Given the description of an element on the screen output the (x, y) to click on. 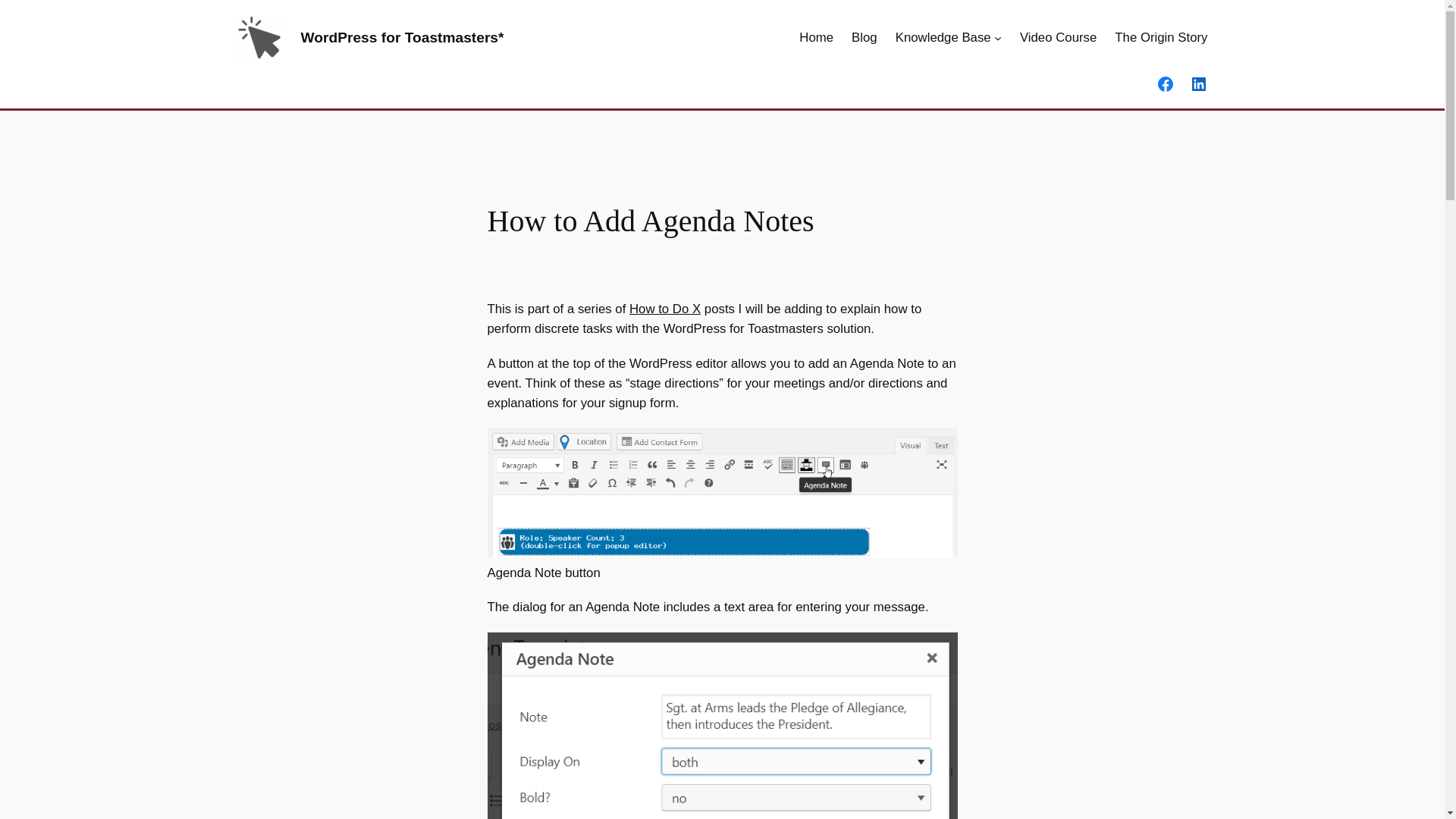
The Origin Story (1161, 37)
Home (815, 37)
LinkedIn (1198, 84)
Blog (864, 37)
How to Do X (664, 309)
Knowledge Base (943, 37)
Facebook (1165, 84)
Video Course (1058, 37)
